Given the description of an element on the screen output the (x, y) to click on. 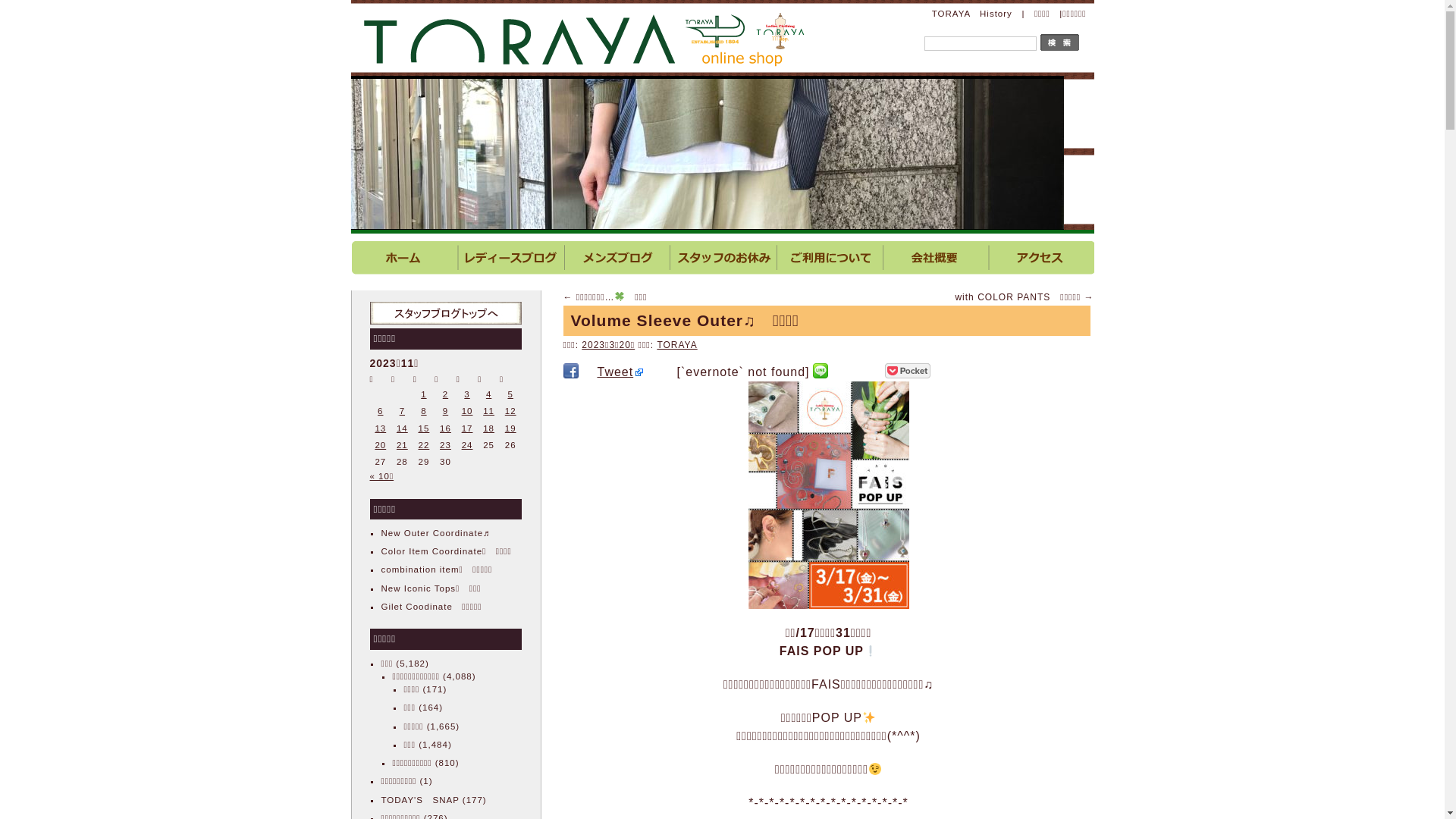
20 Element type: text (379, 444)
toraya Element type: text (584, 37)
23 Element type: text (445, 444)
11 Element type: text (488, 410)
6 Element type: text (379, 410)
5 Element type: text (509, 393)
4 Element type: text (488, 393)
7 Element type: text (401, 410)
Tweet Element type: text (620, 371)
16 Element type: text (445, 428)
12 Element type: text (510, 410)
10 Element type: text (467, 410)
19 Element type: text (510, 428)
13 Element type: text (379, 428)
22 Element type: text (423, 444)
24 Element type: text (467, 444)
8 Element type: text (423, 410)
1 Element type: text (423, 393)
3 Element type: text (466, 393)
21 Element type: text (401, 444)
TORAYA Element type: text (676, 344)
18 Element type: text (488, 428)
9 Element type: text (445, 410)
15 Element type: text (423, 428)
2 Element type: text (445, 393)
14 Element type: text (401, 428)
17 Element type: text (467, 428)
